Given the description of an element on the screen output the (x, y) to click on. 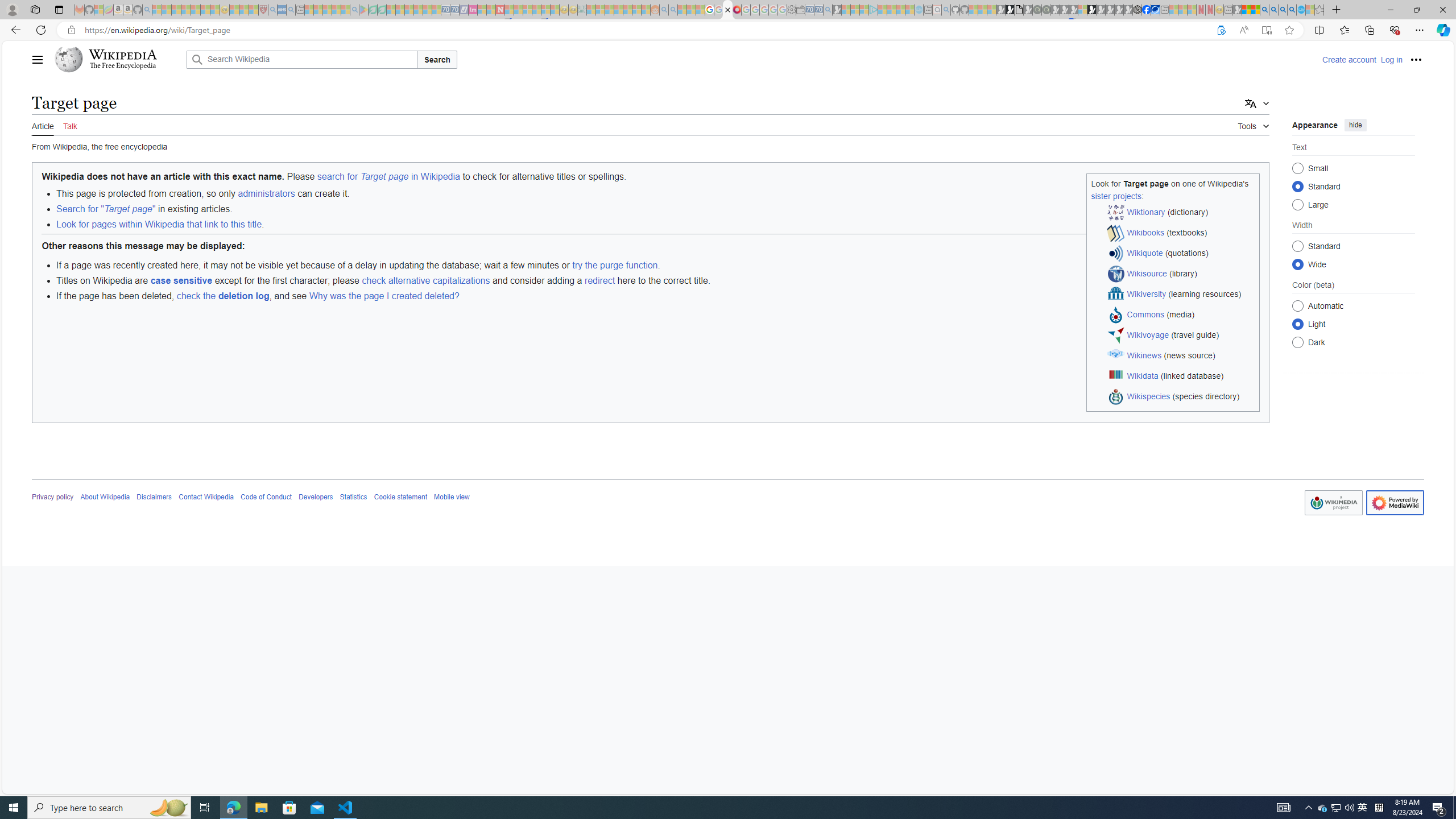
Wikiquote (1144, 252)
Cookie statement (400, 497)
Disclaimers (153, 496)
Search for "Target page" (105, 208)
Wikispecies (species directory) (1181, 396)
Kinda Frugal - MSN - Sleeping (627, 9)
Small (1297, 167)
Contact Wikipedia (206, 497)
Wikipedia (122, 54)
Class: mw-list-item mw-list-item-js (1353, 323)
Future Focus Report 2024 - Sleeping (1045, 9)
